Given the description of an element on the screen output the (x, y) to click on. 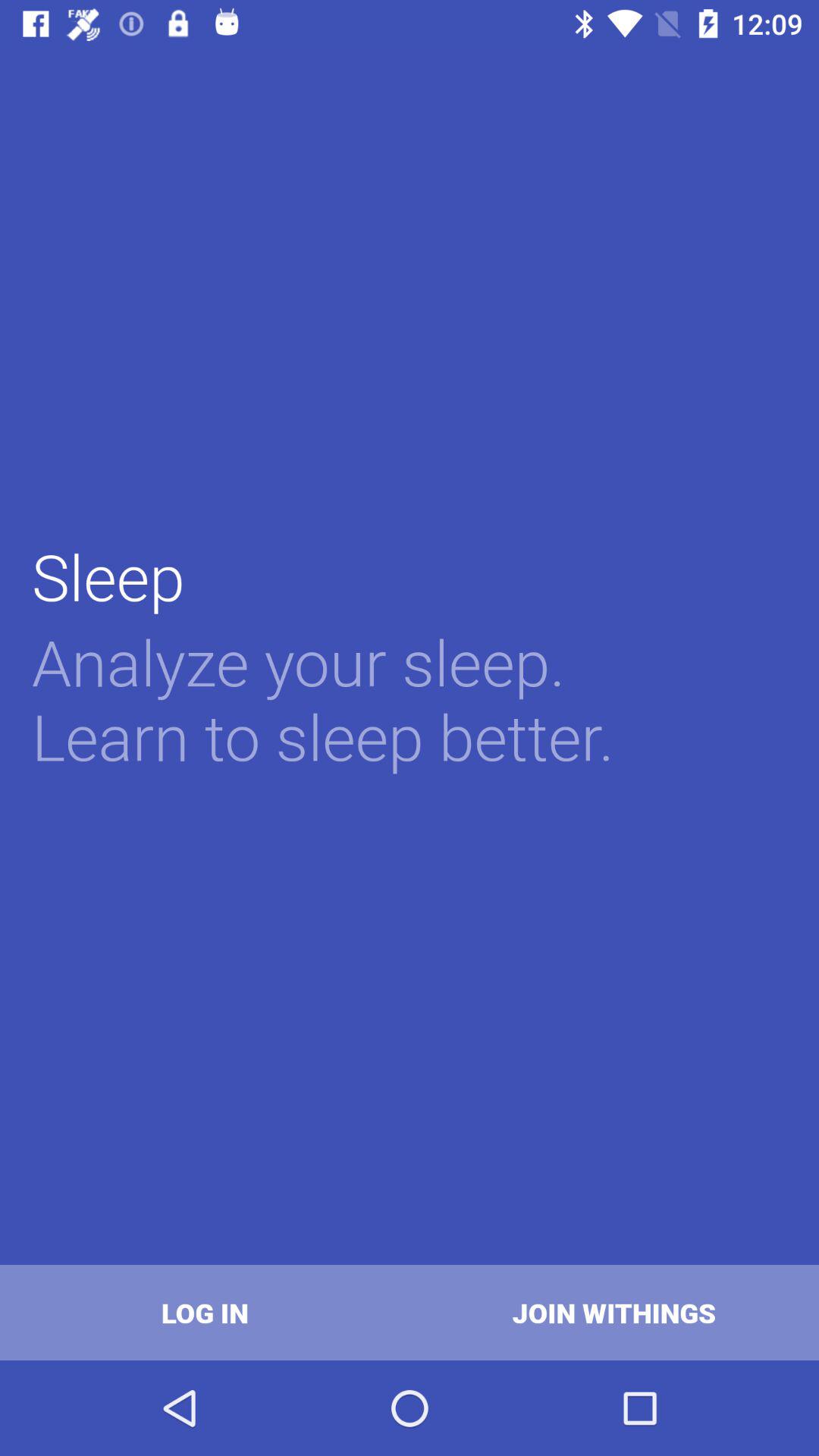
select join withings (614, 1312)
